Given the description of an element on the screen output the (x, y) to click on. 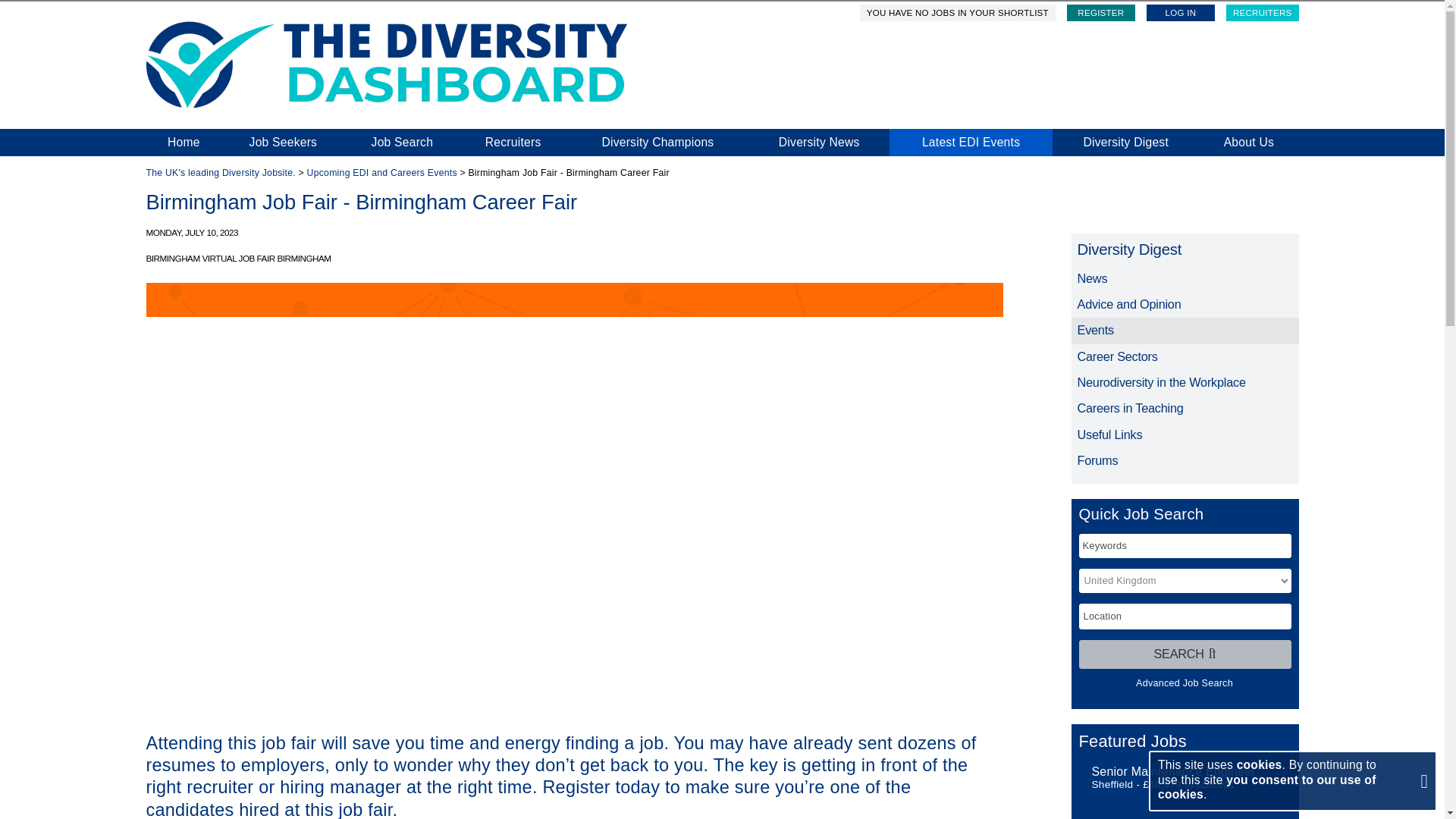
Events (1184, 330)
Advice and Opinion (1184, 304)
REGISTER (1101, 12)
Diversity Digest (1125, 142)
Recruiters (513, 142)
Job Seekers (282, 142)
SEARCH (1184, 654)
Senior Maintenance Engineer (1173, 770)
Career Sectors (1184, 356)
Diversity Digest (1184, 249)
RECRUITERS (1261, 12)
Home (183, 142)
Latest EDI Events (970, 142)
Careers in Teaching (1184, 408)
Diversity News (819, 142)
